Given the description of an element on the screen output the (x, y) to click on. 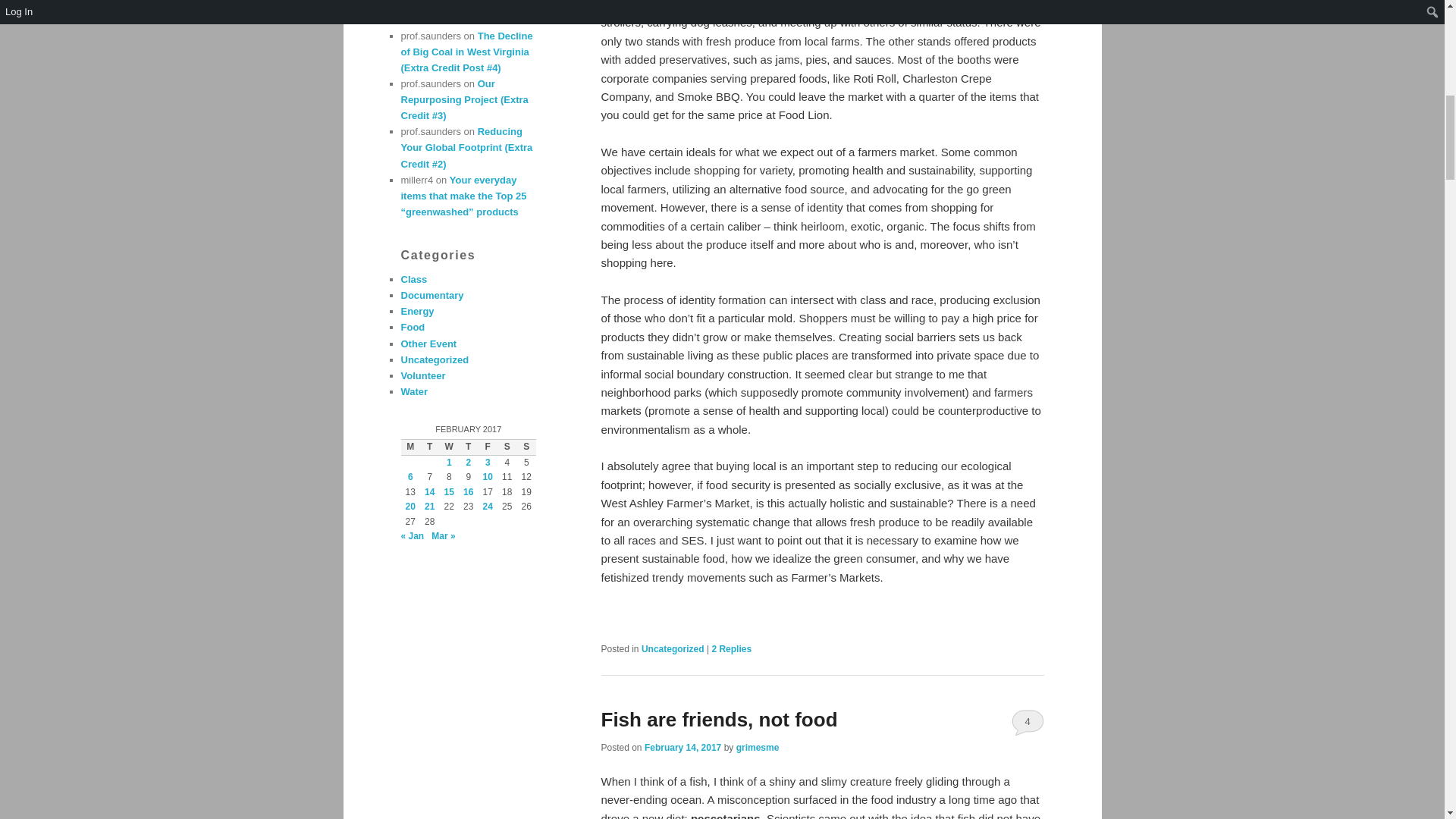
February 14, 2017 (682, 747)
Documentary (431, 295)
grimesme (757, 747)
Fish are friends, not food (718, 719)
Saturday (506, 446)
Other Event (428, 343)
Food (412, 326)
Energy (416, 310)
Wednesday (449, 446)
View all posts by grimesme (757, 747)
